Given the description of an element on the screen output the (x, y) to click on. 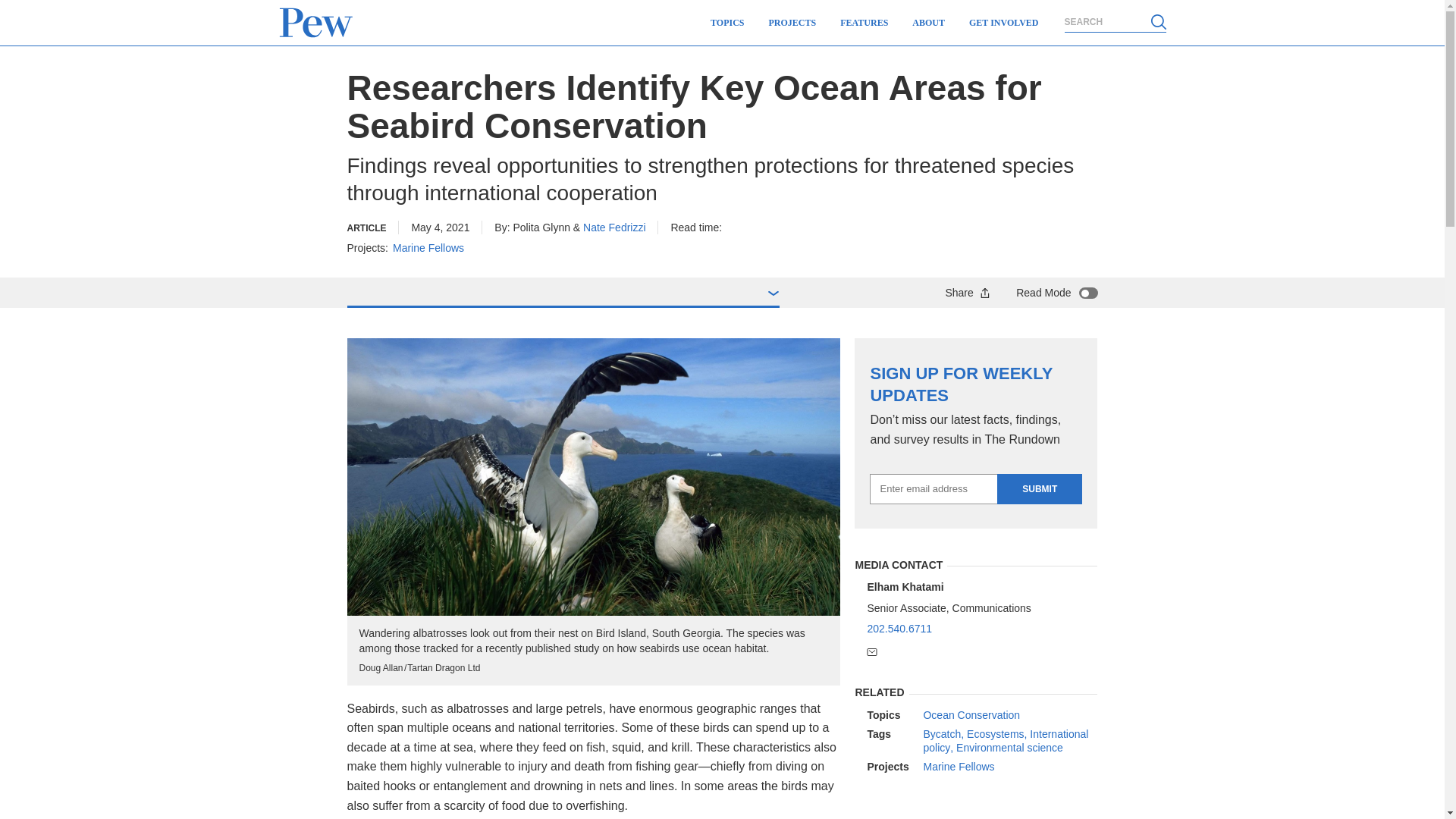
TOPICS (726, 22)
PROJECTS (792, 22)
Submit (1039, 489)
